Given the description of an element on the screen output the (x, y) to click on. 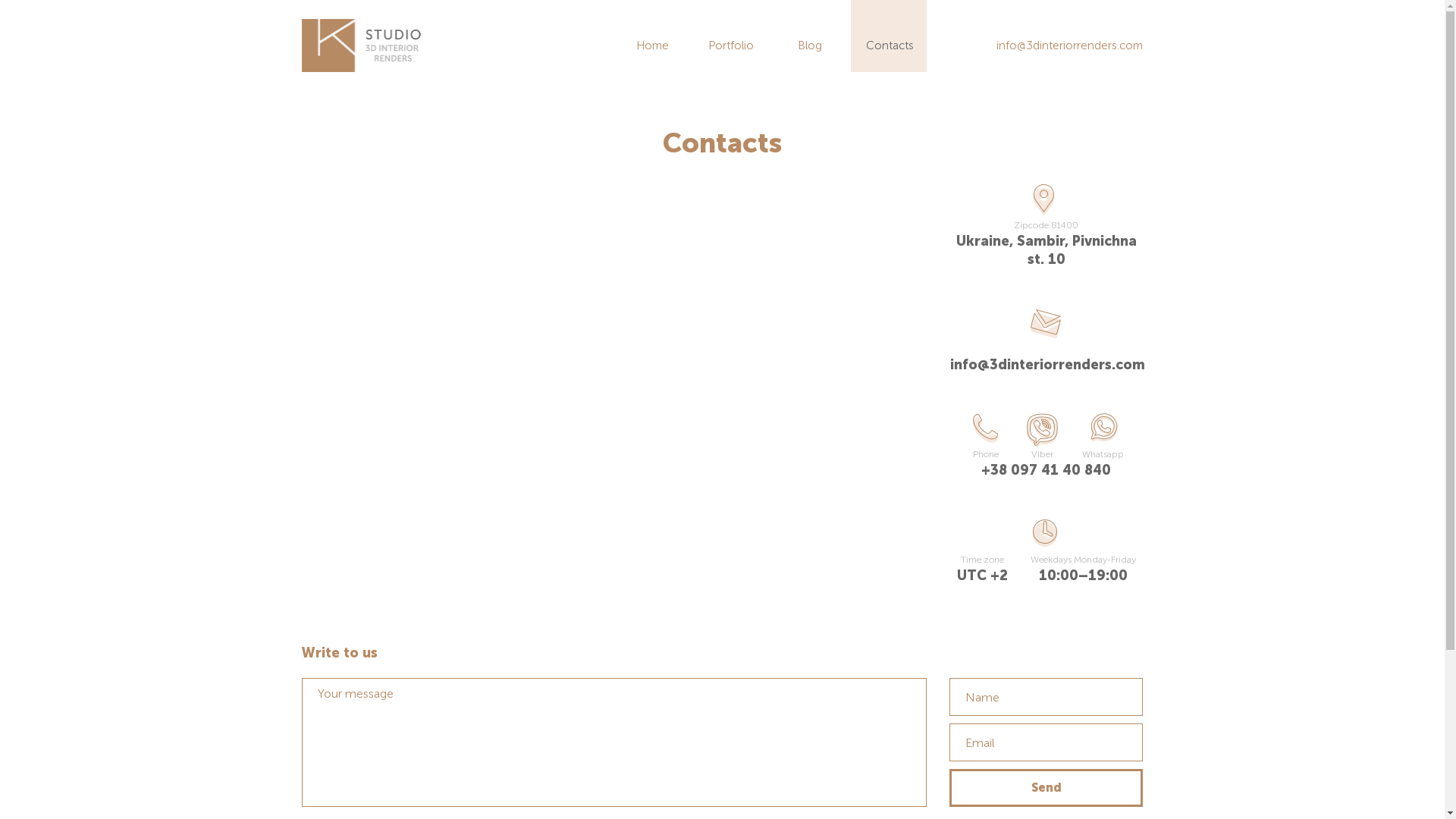
Home Element type: text (652, 45)
Contacts Element type: text (888, 45)
Portfolio Element type: text (730, 45)
Send Element type: text (1045, 787)
Blog Element type: text (809, 45)
